Given the description of an element on the screen output the (x, y) to click on. 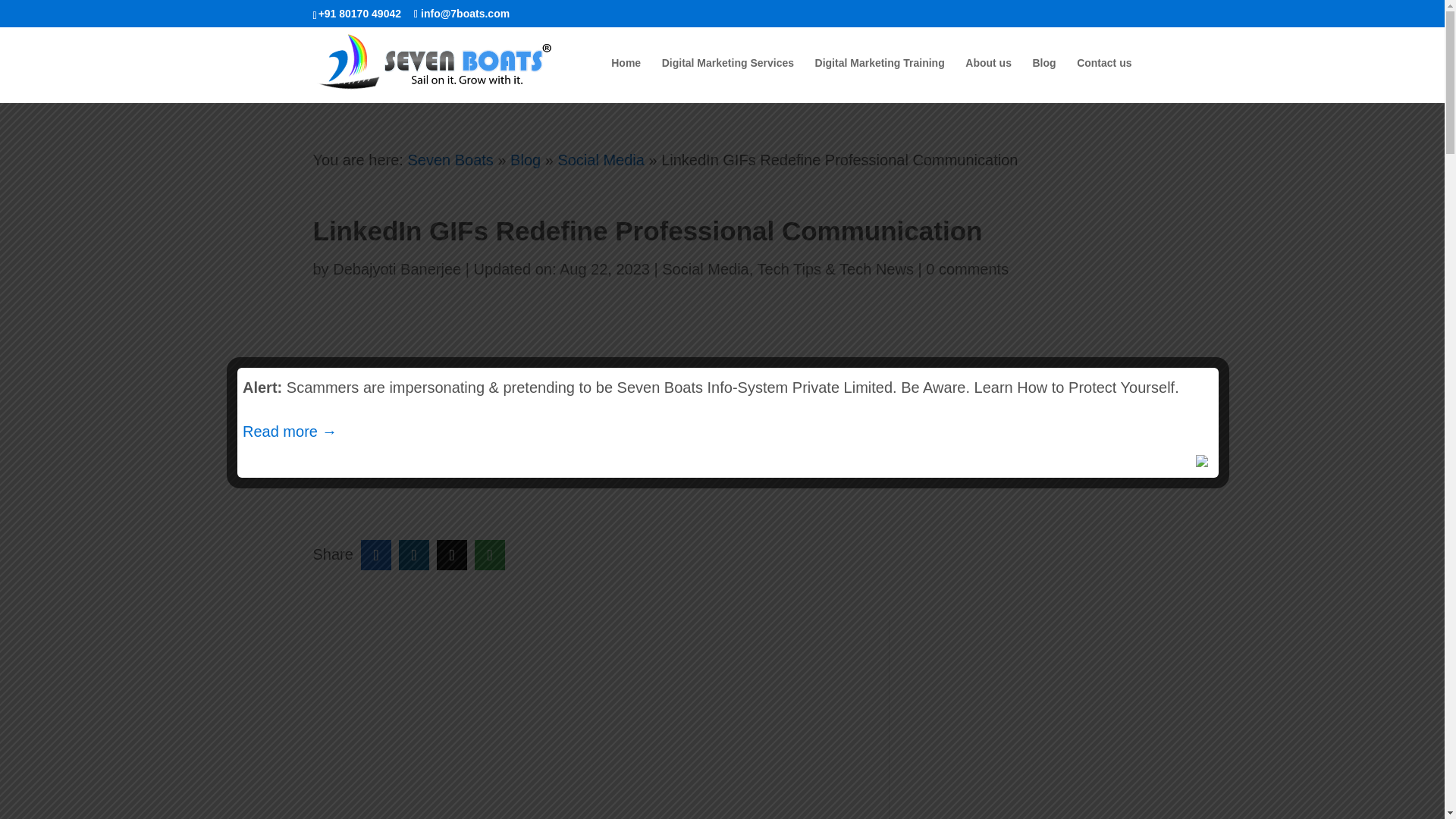
Close (1203, 462)
Social Media (705, 269)
About us (988, 80)
Blog (525, 159)
Digital Marketing Services (727, 80)
Seven Boats (450, 159)
Debajyoti Banerjee (397, 269)
Posts by Debajyoti Banerjee (397, 269)
Contact us (1104, 80)
